Given the description of an element on the screen output the (x, y) to click on. 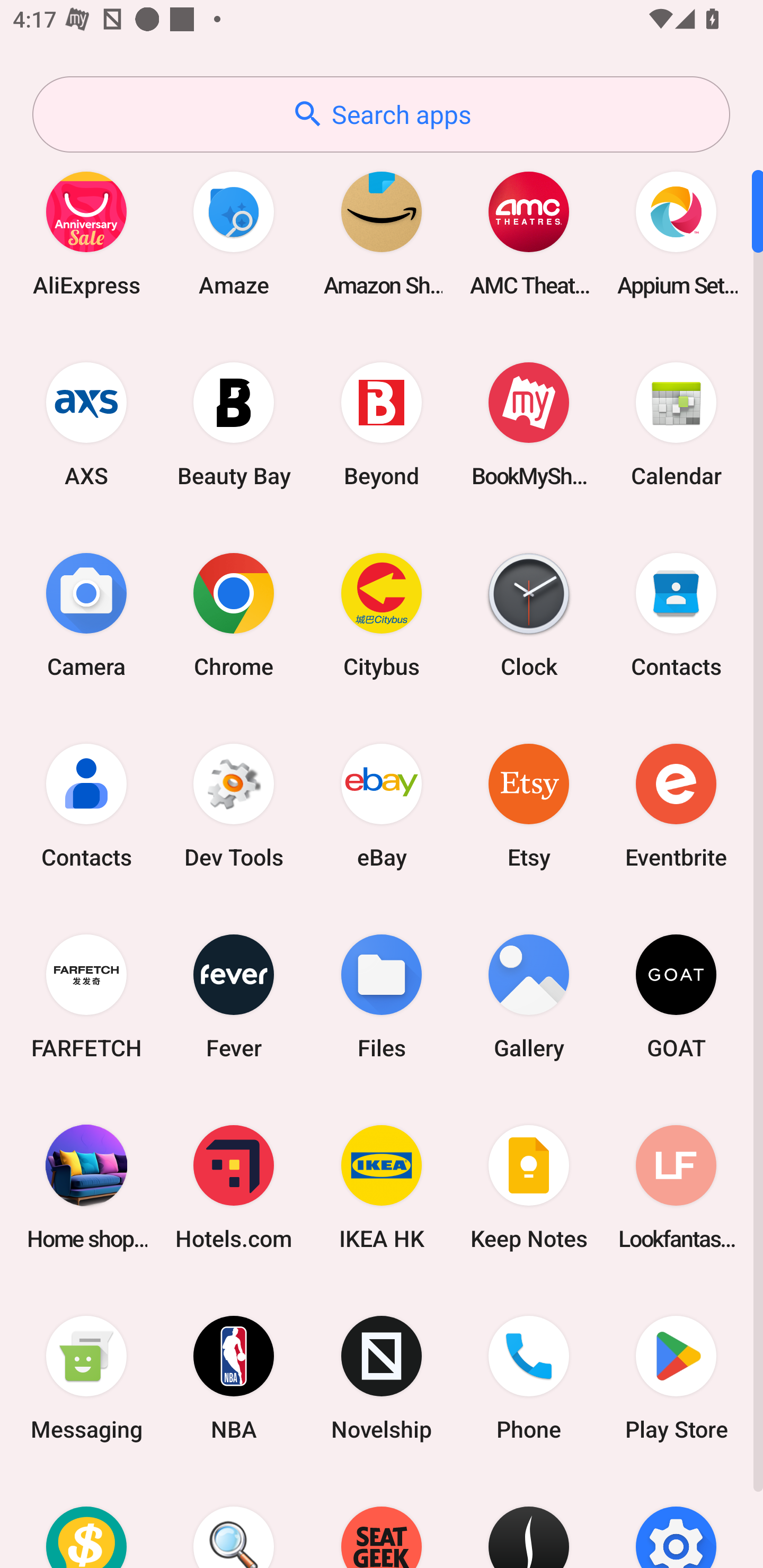
  Search apps (381, 114)
AliExpress (86, 233)
Amaze (233, 233)
Amazon Shopping (381, 233)
AMC Theatres (528, 233)
Appium Settings (676, 233)
AXS (86, 424)
Beauty Bay (233, 424)
Beyond (381, 424)
BookMyShow (528, 424)
Calendar (676, 424)
Camera (86, 614)
Chrome (233, 614)
Citybus (381, 614)
Clock (528, 614)
Contacts (676, 614)
Contacts (86, 805)
Dev Tools (233, 805)
eBay (381, 805)
Etsy (528, 805)
Eventbrite (676, 805)
FARFETCH (86, 996)
Fever (233, 996)
Files (381, 996)
Gallery (528, 996)
GOAT (676, 996)
Home shopping (86, 1186)
Hotels.com (233, 1186)
IKEA HK (381, 1186)
Keep Notes (528, 1186)
Lookfantastic (676, 1186)
Messaging (86, 1377)
NBA (233, 1377)
Novelship (381, 1377)
Phone (528, 1377)
Play Store (676, 1377)
Price (86, 1520)
Search (233, 1520)
SeatGeek (381, 1520)
Sephora (528, 1520)
Settings (676, 1520)
